Given the description of an element on the screen output the (x, y) to click on. 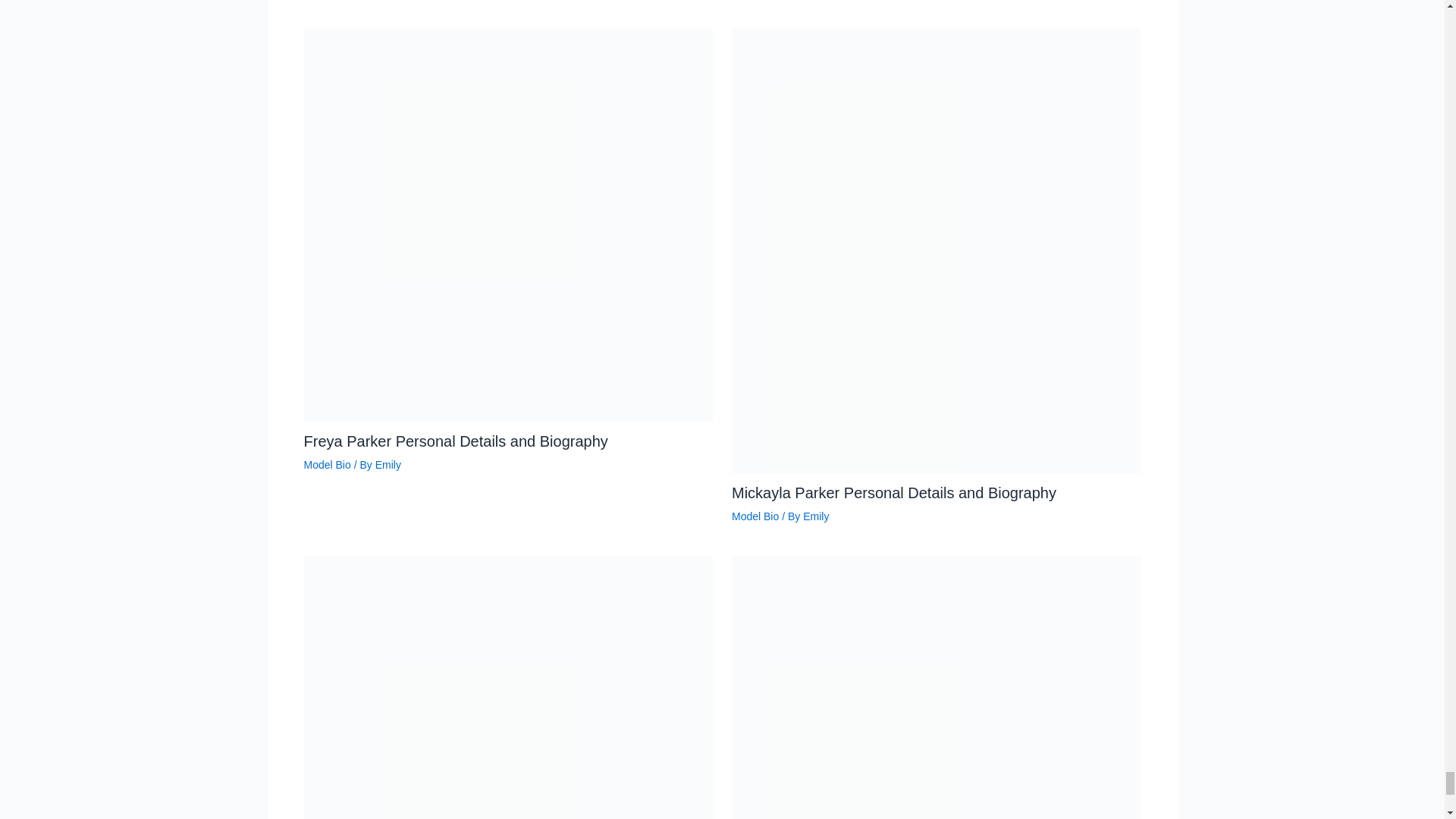
Emily (388, 464)
View all posts by Emily (388, 464)
Mickayla Parker Personal Details and Biography (894, 492)
Model Bio (326, 464)
Freya Parker Personal Details and Biography (454, 441)
Emily (815, 516)
Model Bio (755, 516)
View all posts by Emily (815, 516)
